Given the description of an element on the screen output the (x, y) to click on. 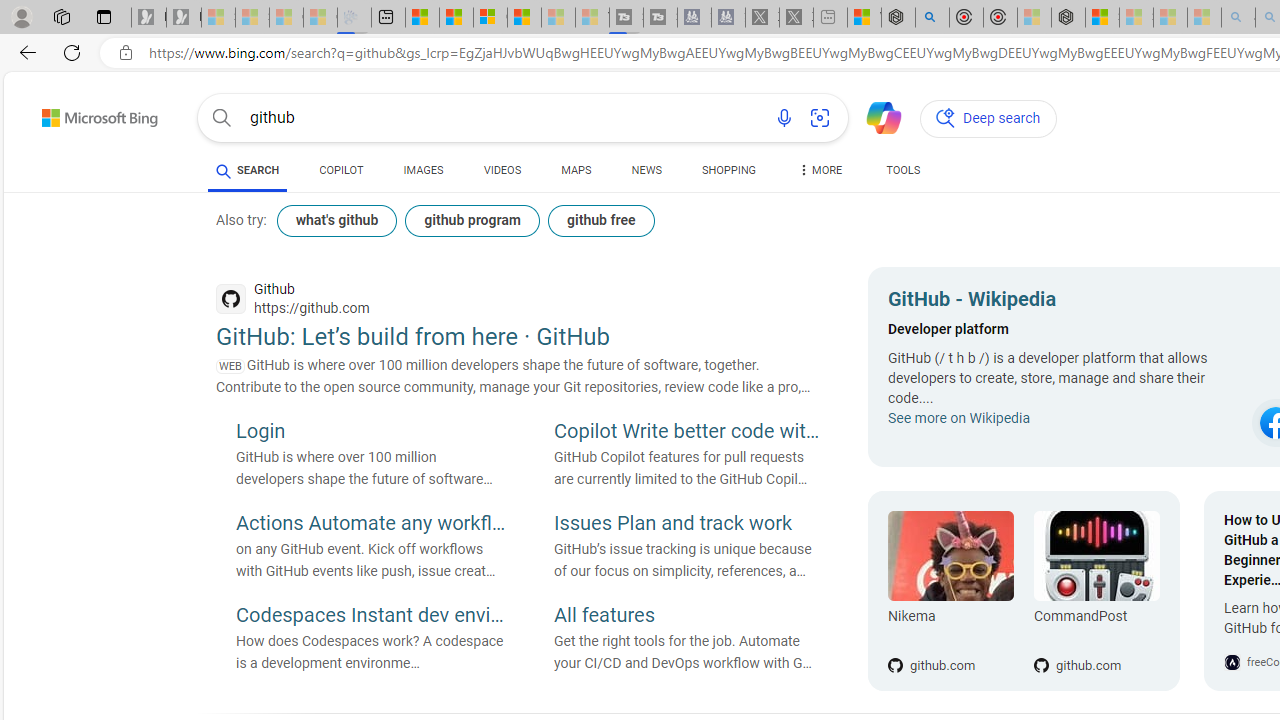
View site information (125, 53)
Chat (875, 116)
github free (600, 220)
X - Sleeping (795, 17)
CommandPost CommandPost github.com (1086, 591)
SHOPPING (728, 173)
Tab actions menu (104, 16)
Refresh (72, 52)
Dropdown Menu (819, 170)
TOOLS (903, 173)
IMAGES (423, 173)
